Given the description of an element on the screen output the (x, y) to click on. 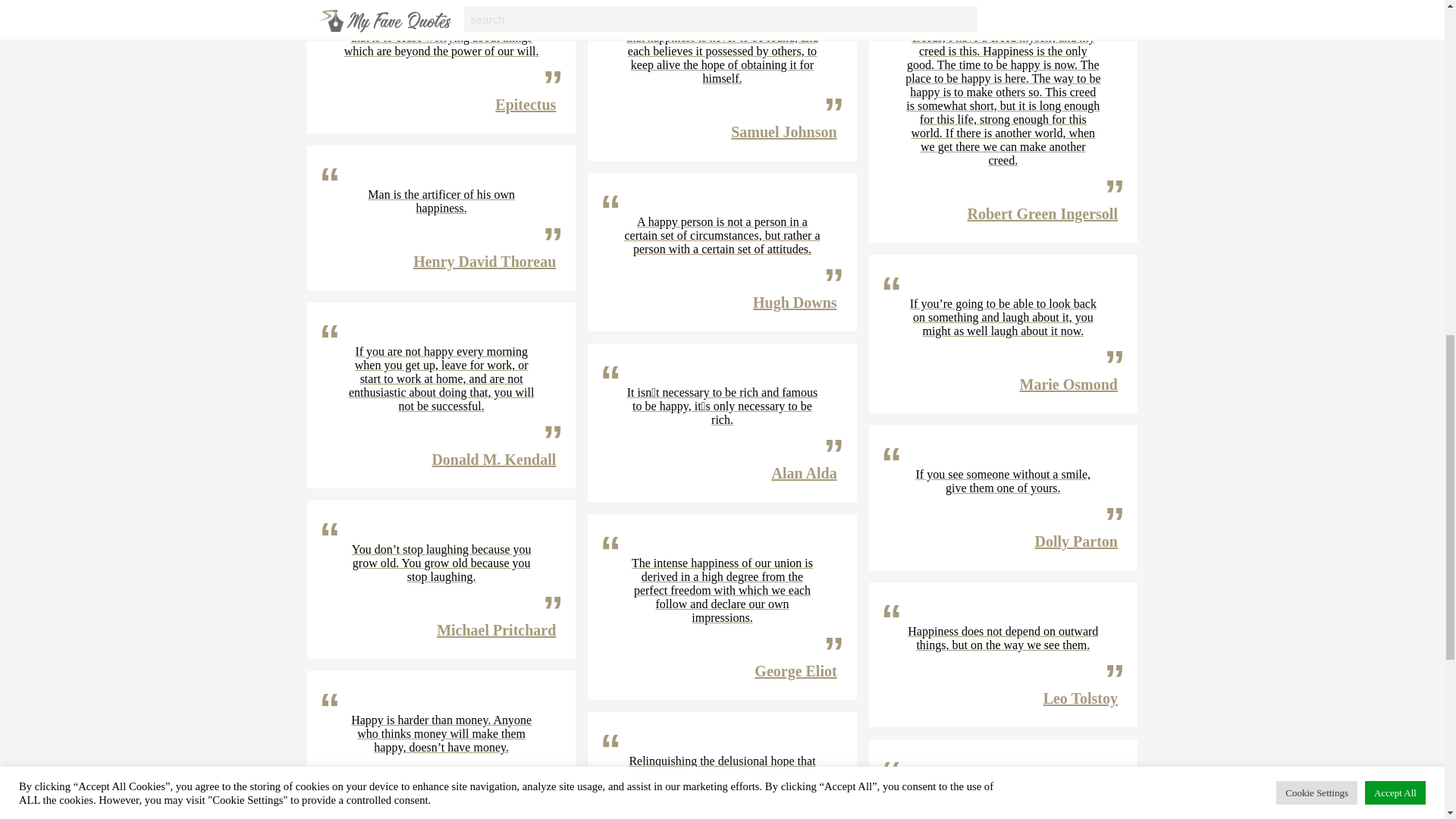
Alan Alda (804, 473)
George Eliot (794, 670)
Henry David Thoreau (484, 261)
Epitectus (525, 104)
Donald M. Kendall (493, 459)
Samuel Johnson (783, 131)
Hugh Downs (794, 302)
